Given the description of an element on the screen output the (x, y) to click on. 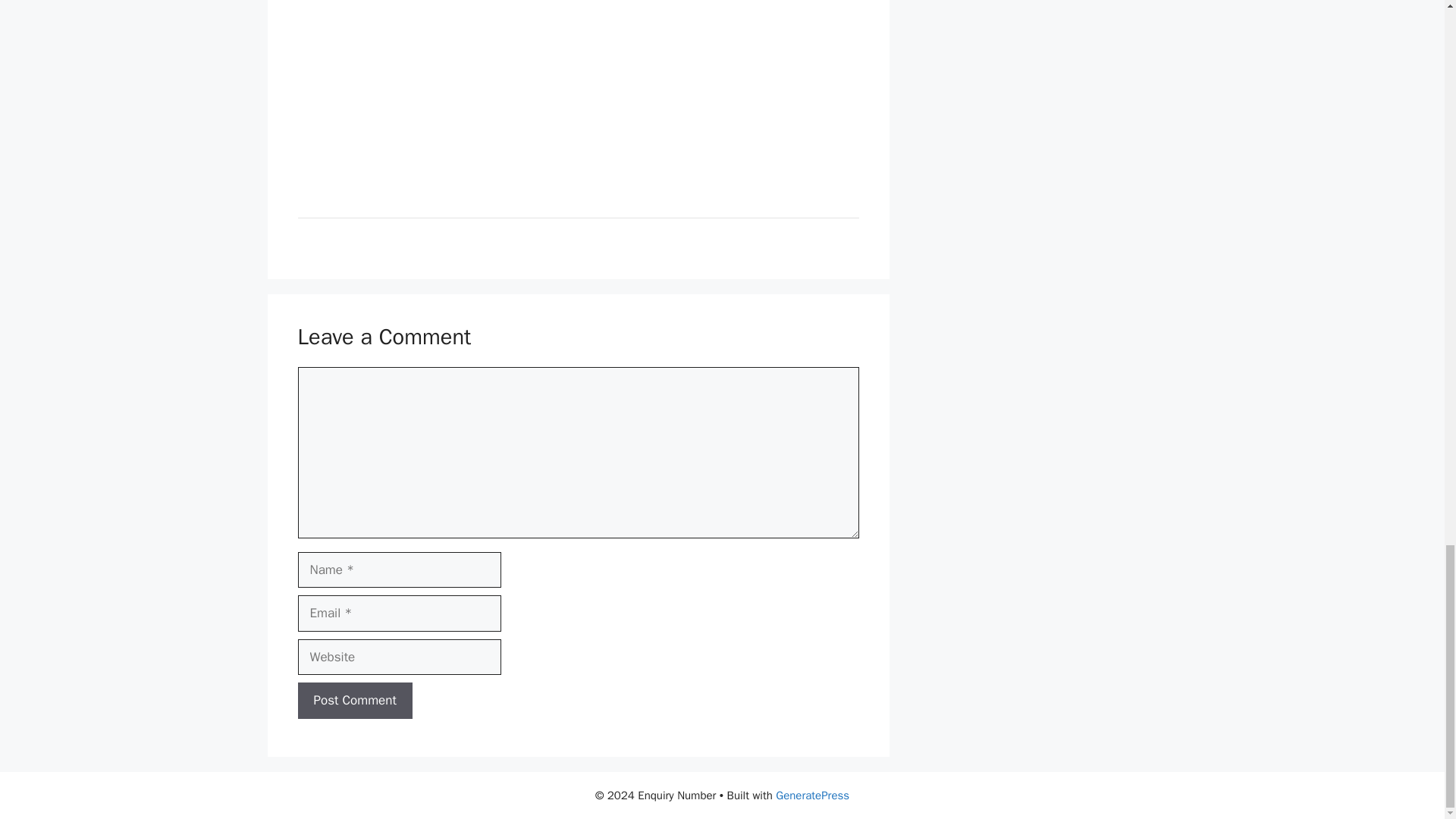
Post Comment (354, 700)
Post Comment (354, 700)
GeneratePress (812, 795)
